Given the description of an element on the screen output the (x, y) to click on. 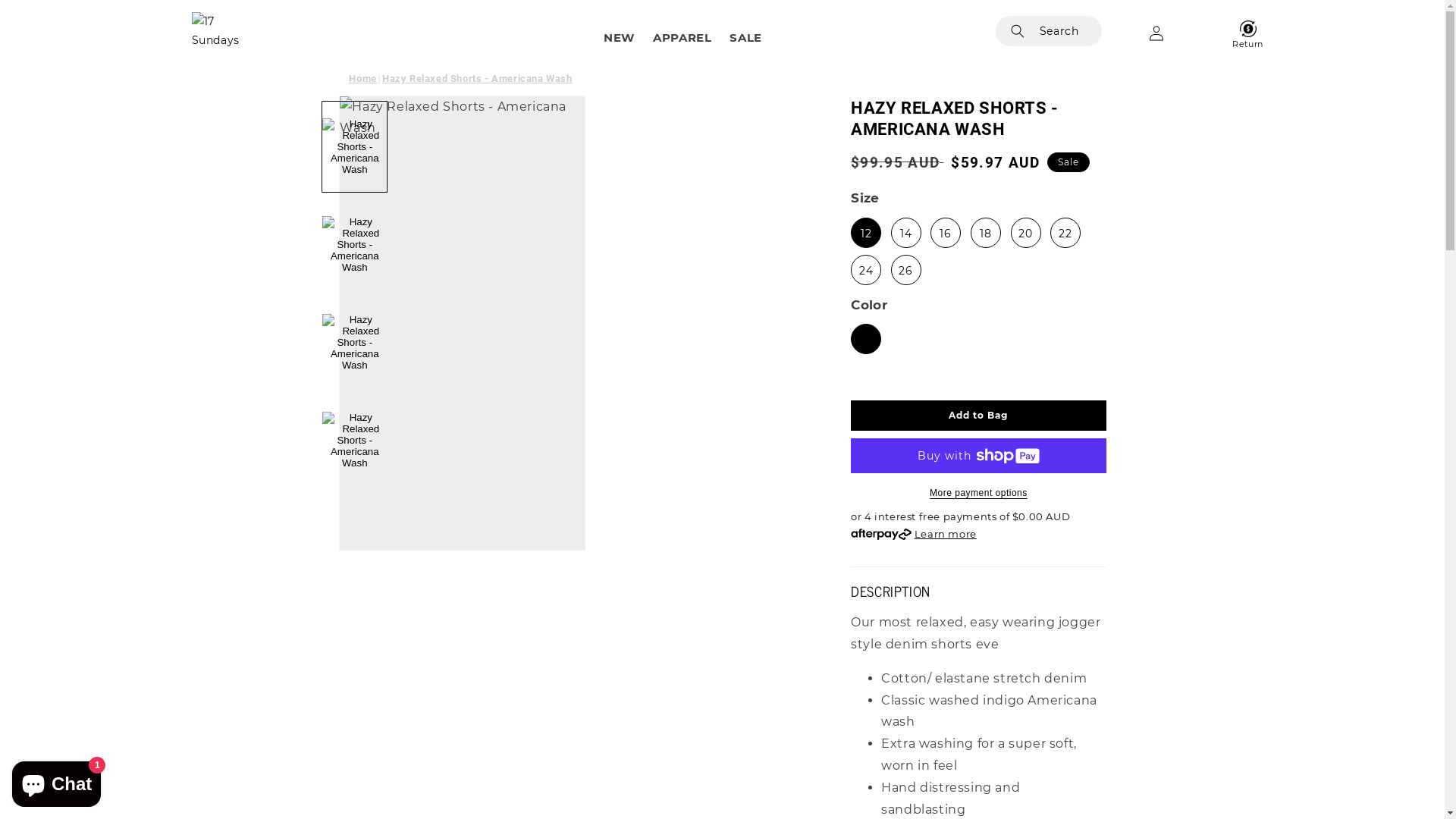
Return Element type: text (1235, 33)
Shopify online store chat Element type: hover (56, 780)
NEW Element type: text (618, 37)
Home Element type: text (365, 78)
Log in Element type: text (1155, 33)
Add to Bag Element type: text (978, 415)
APPAREL Element type: text (681, 37)
Skip to product information Element type: text (386, 112)
SALE Element type: text (745, 37)
Cart Element type: text (1200, 33)
Learn more Element type: text (945, 533)
More payment options Element type: text (978, 492)
